Given the description of an element on the screen output the (x, y) to click on. 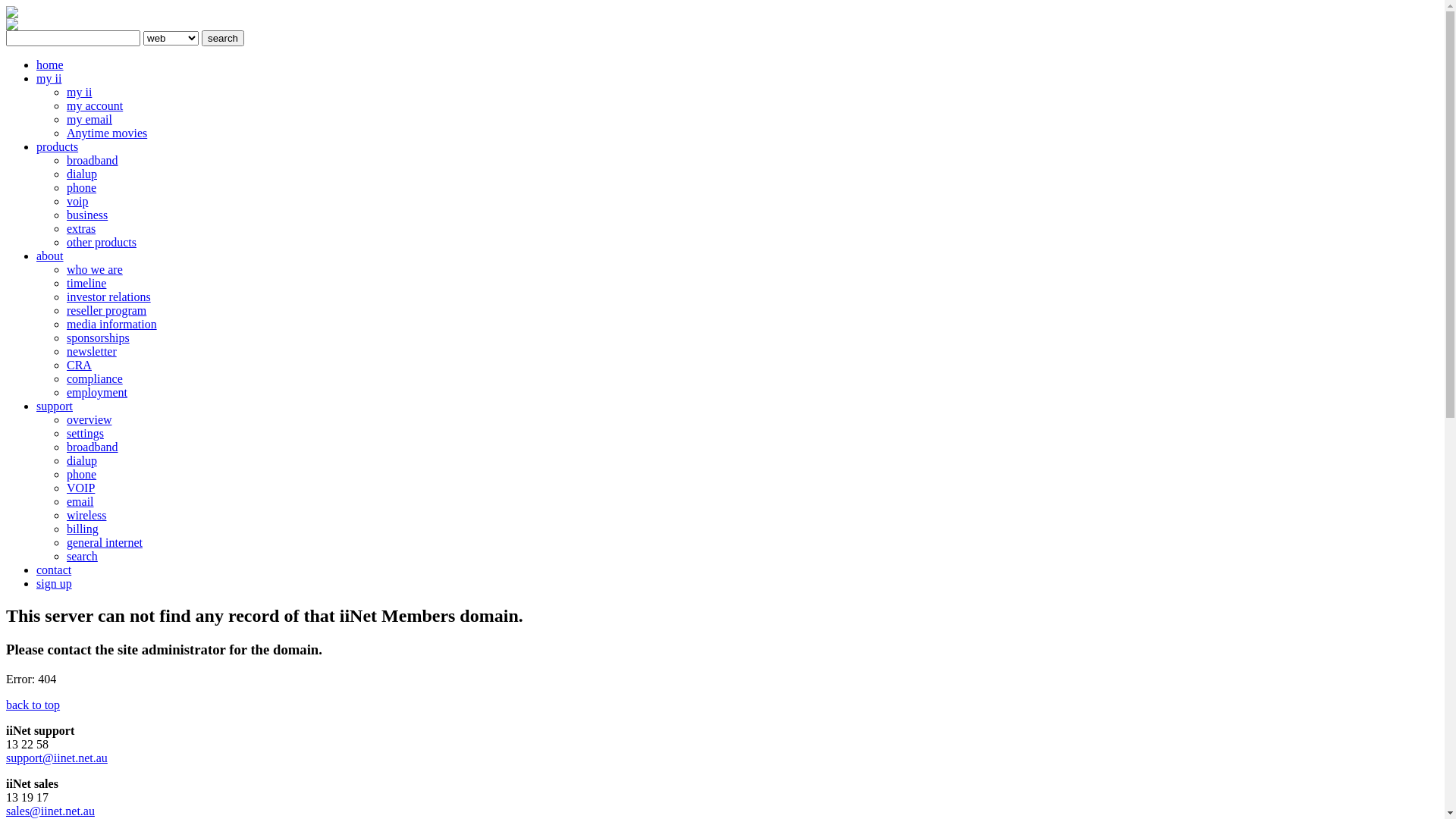
sponsorships Element type: text (97, 337)
back to top Element type: text (32, 704)
search Element type: text (222, 38)
reseller program Element type: text (106, 310)
compliance Element type: text (94, 378)
phone Element type: text (81, 187)
email Element type: text (80, 501)
overview Element type: text (89, 419)
billing Element type: text (82, 528)
sign up Element type: text (54, 583)
contact Element type: text (53, 569)
broadband Element type: text (92, 446)
dialup Element type: text (81, 173)
sales@iinet.net.au Element type: text (50, 810)
wireless Element type: text (86, 514)
about Element type: text (49, 255)
my ii Element type: text (78, 91)
general internet Element type: text (104, 542)
VOIP Element type: text (80, 487)
Anytime movies Element type: text (106, 132)
my email Element type: text (89, 118)
settings Element type: text (84, 432)
other products Element type: text (101, 241)
employment Element type: text (96, 391)
newsletter Element type: text (91, 351)
my ii Element type: text (48, 78)
dialup Element type: text (81, 460)
CRA Element type: text (78, 364)
media information Element type: text (111, 323)
broadband Element type: text (92, 159)
support@iinet.net.au Element type: text (56, 757)
search Element type: text (81, 555)
extras Element type: text (80, 228)
voip Element type: text (76, 200)
timeline Element type: text (86, 282)
home Element type: text (49, 64)
phone Element type: text (81, 473)
business Element type: text (86, 214)
who we are Element type: text (94, 269)
support Element type: text (54, 405)
investor relations Element type: text (108, 296)
products Element type: text (57, 146)
my account Element type: text (94, 105)
